Given the description of an element on the screen output the (x, y) to click on. 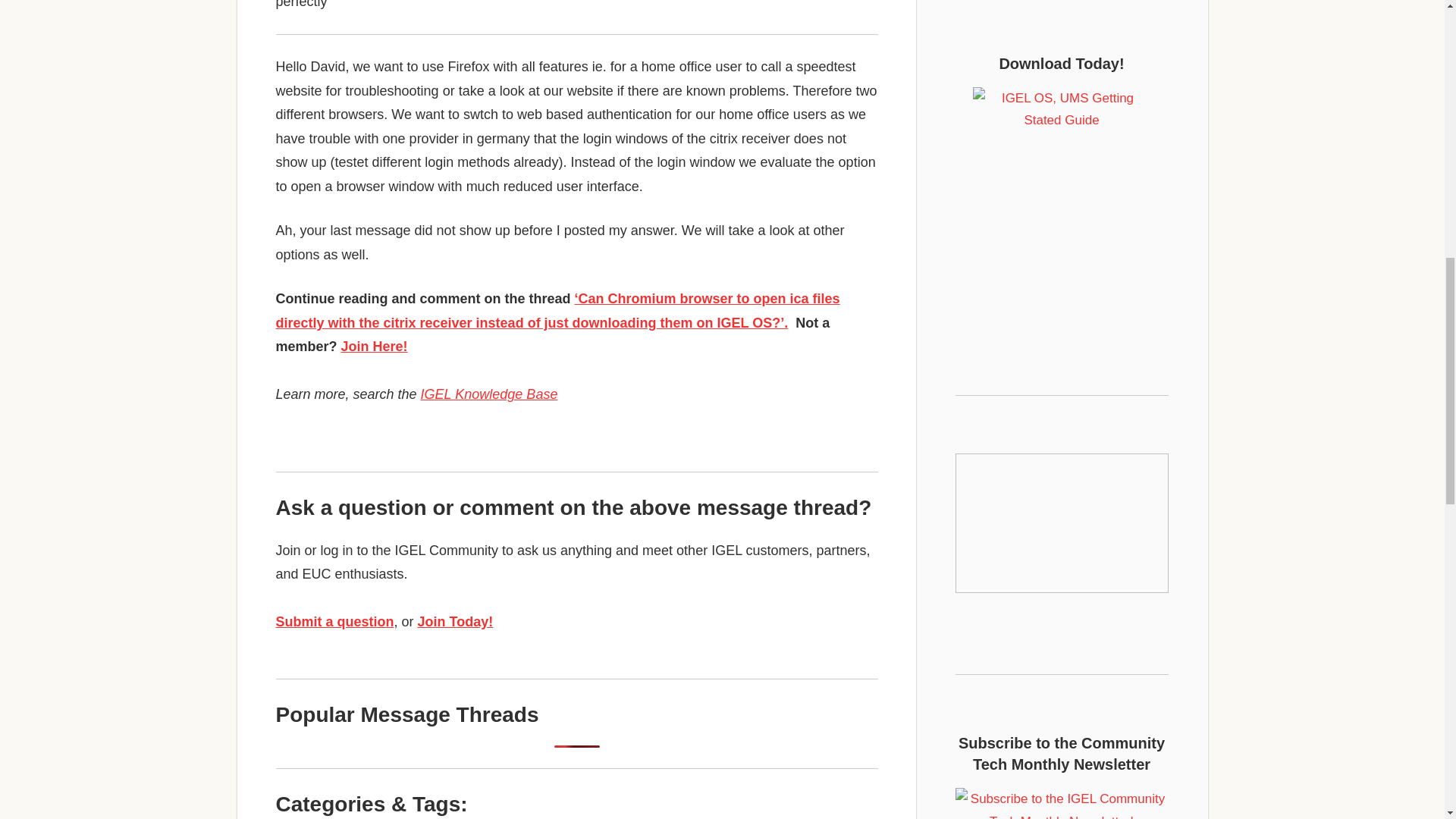
Subscribe to the Community Tech Monthly Newsletter (1062, 803)
Download Today! (1062, 200)
